Given the description of an element on the screen output the (x, y) to click on. 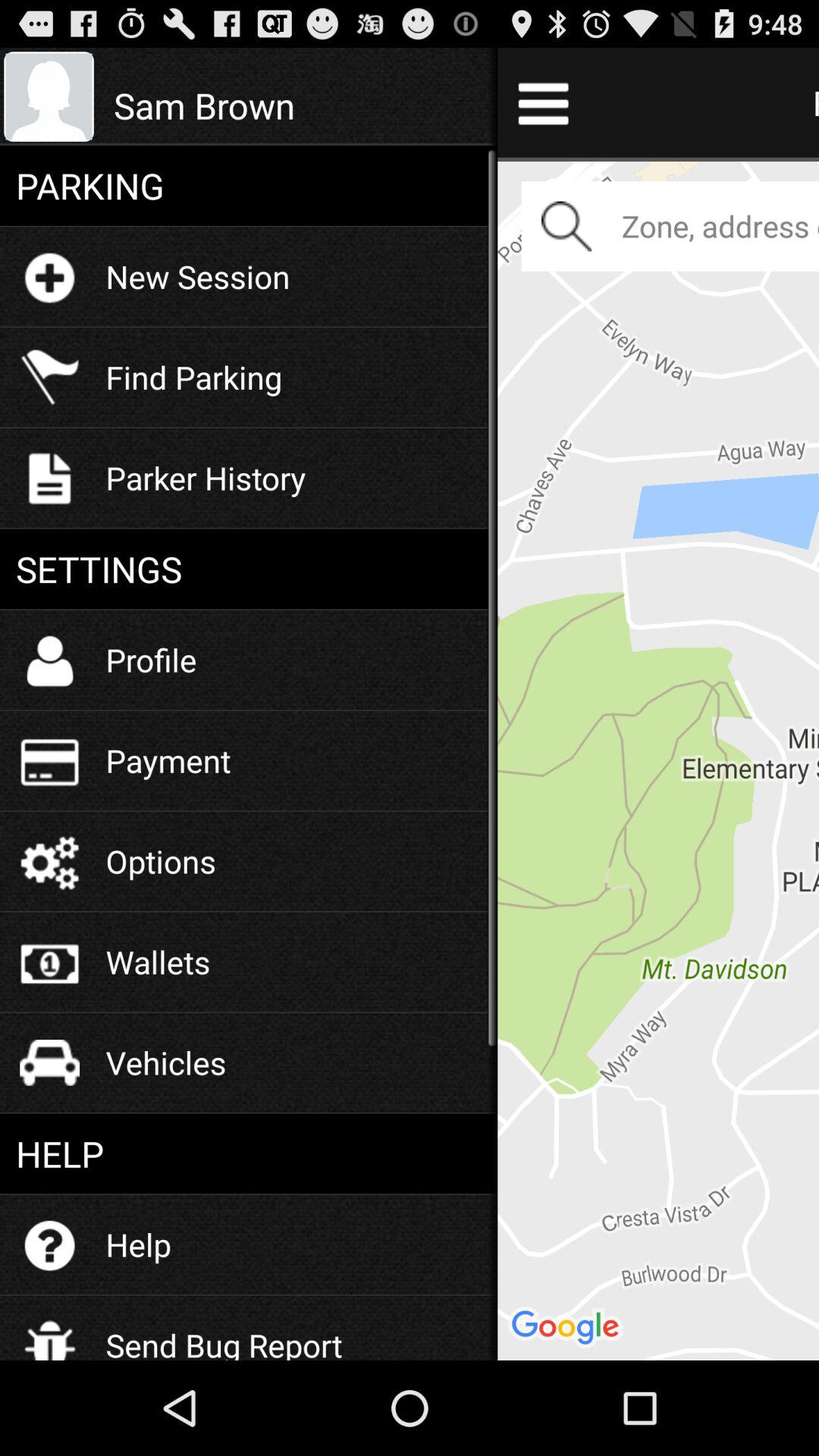
launch the parker history (205, 477)
